Given the description of an element on the screen output the (x, y) to click on. 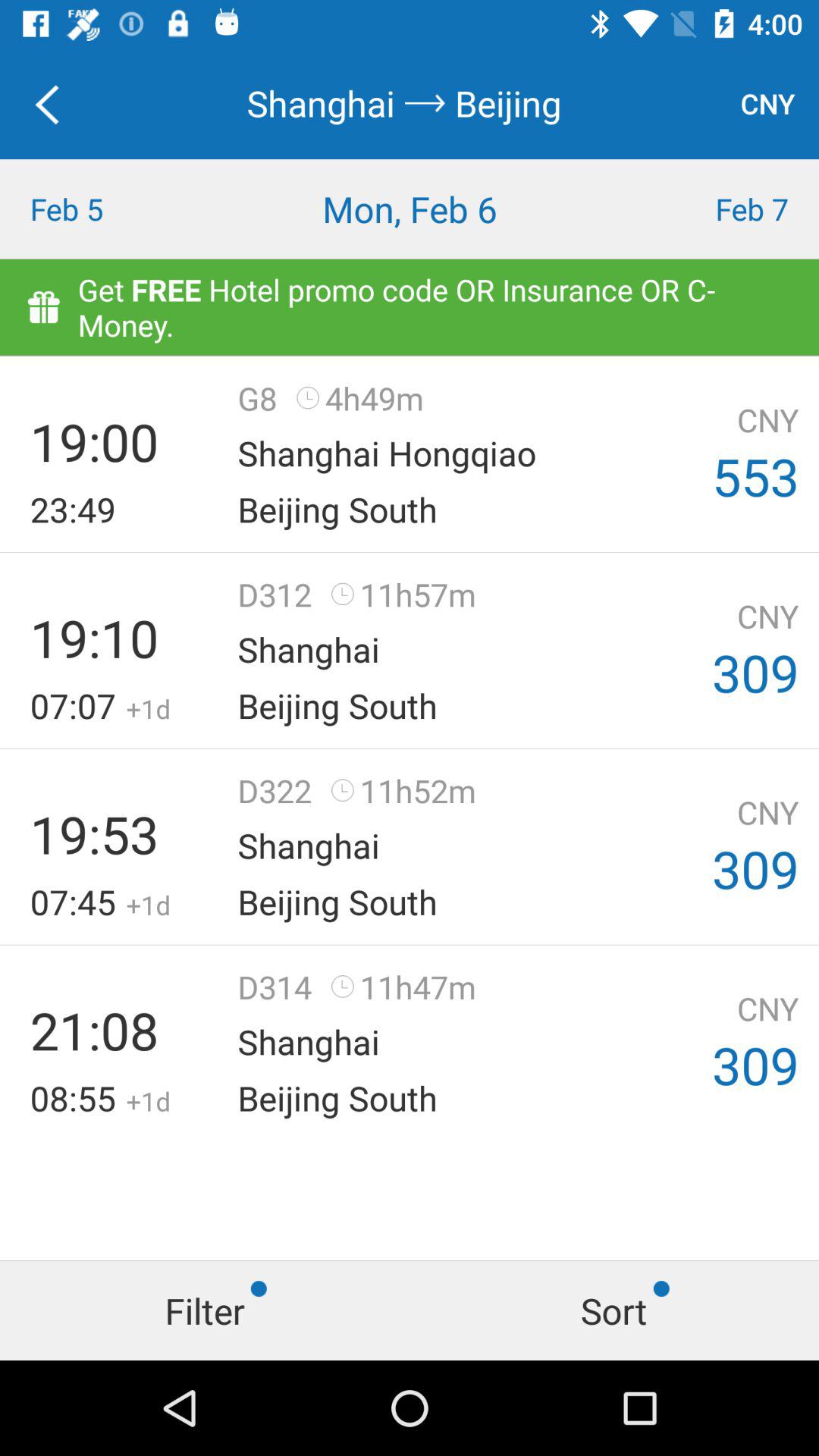
choose item above feb 5 icon (55, 103)
